Given the description of an element on the screen output the (x, y) to click on. 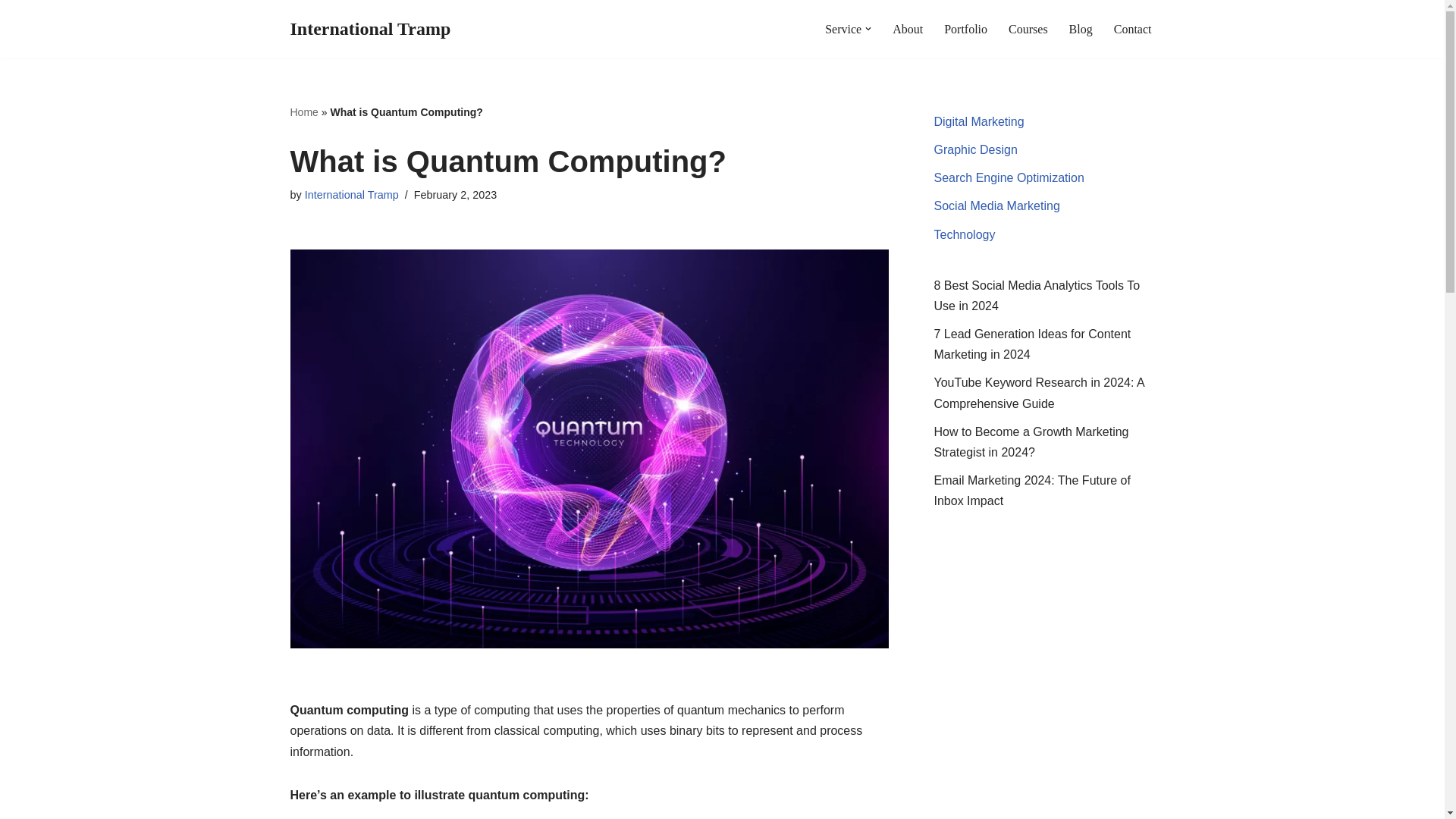
Posts by International Tramp (351, 194)
7 Lead Generation Ideas for Content Marketing in 2024 (1032, 344)
Blog (1080, 28)
International Tramp (351, 194)
Courses (1028, 28)
Search Engine Optimization (1009, 177)
Graphic Design (975, 149)
Digital Marketing (979, 121)
Technology (964, 234)
Home (303, 111)
